Given the description of an element on the screen output the (x, y) to click on. 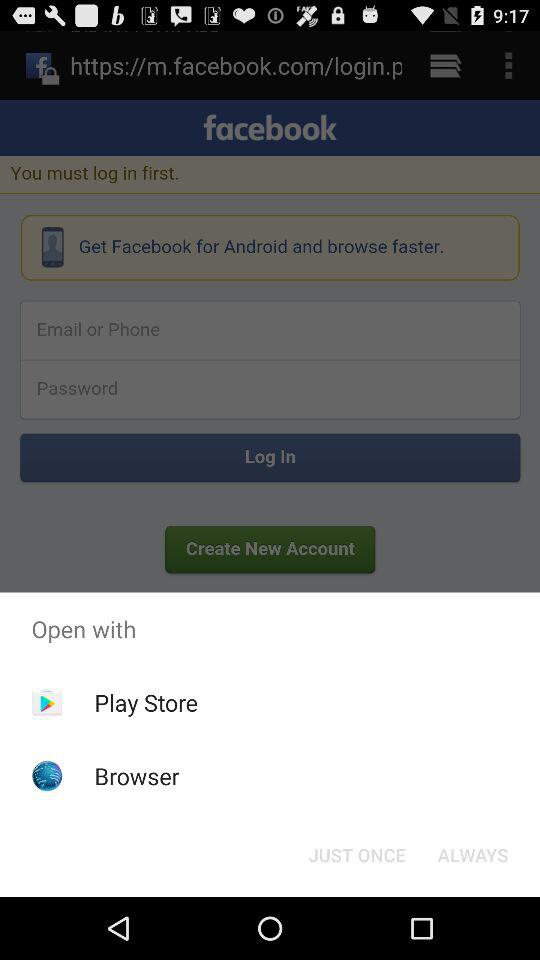
select the icon to the left of always (356, 854)
